Given the description of an element on the screen output the (x, y) to click on. 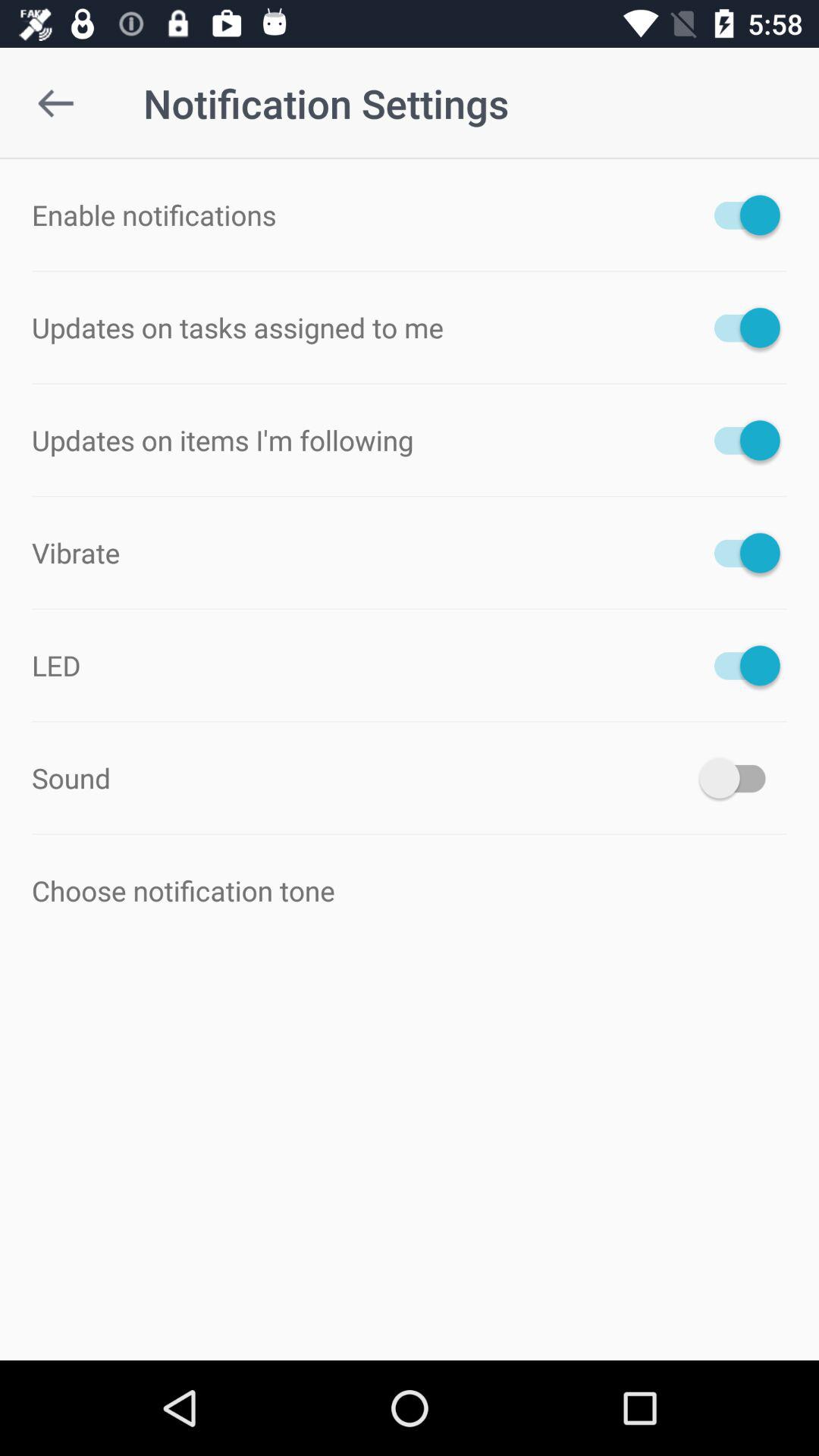
notification on button (739, 214)
